Given the description of an element on the screen output the (x, y) to click on. 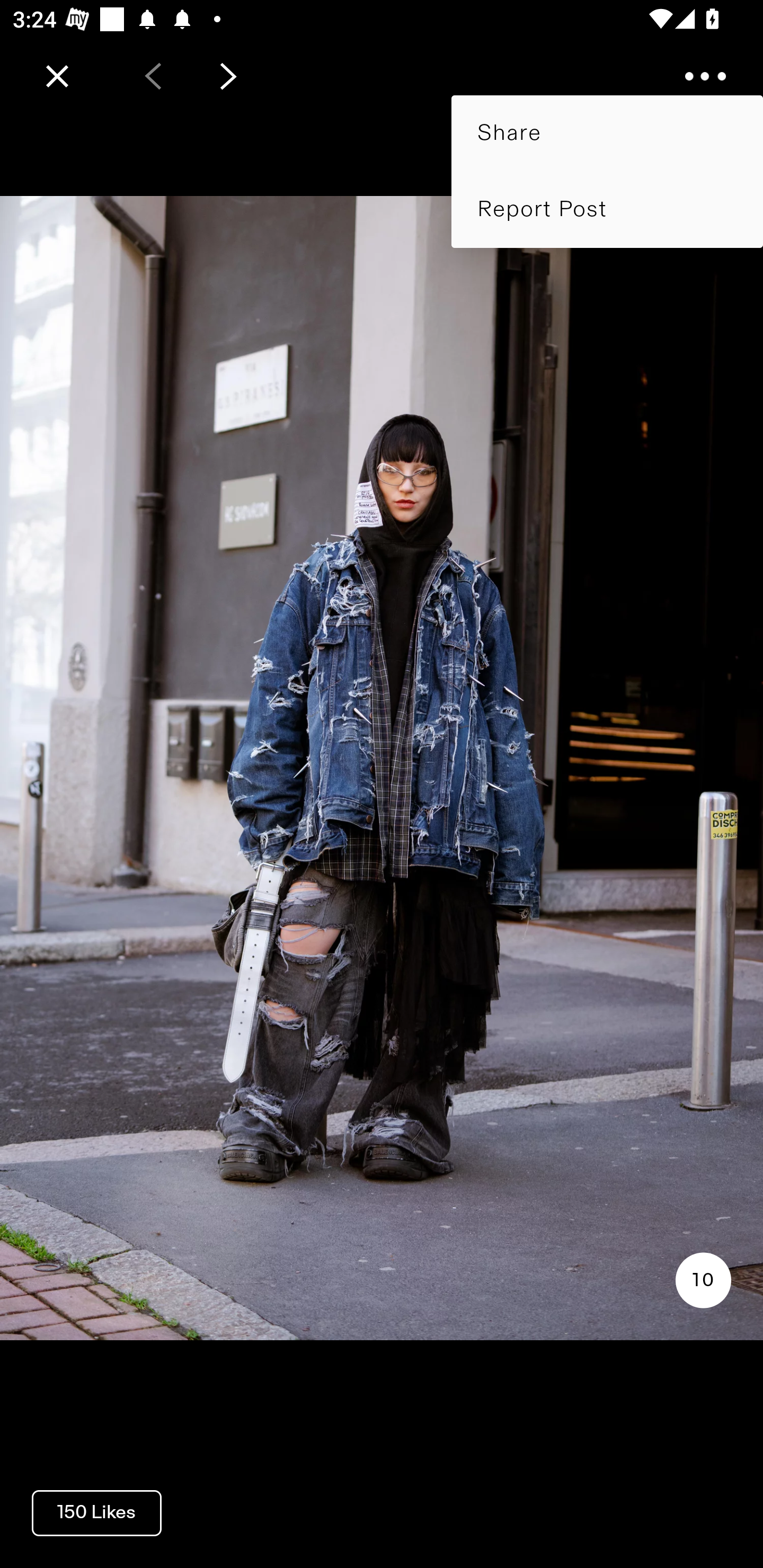
Share (607, 132)
Report Post (607, 208)
